Given the description of an element on the screen output the (x, y) to click on. 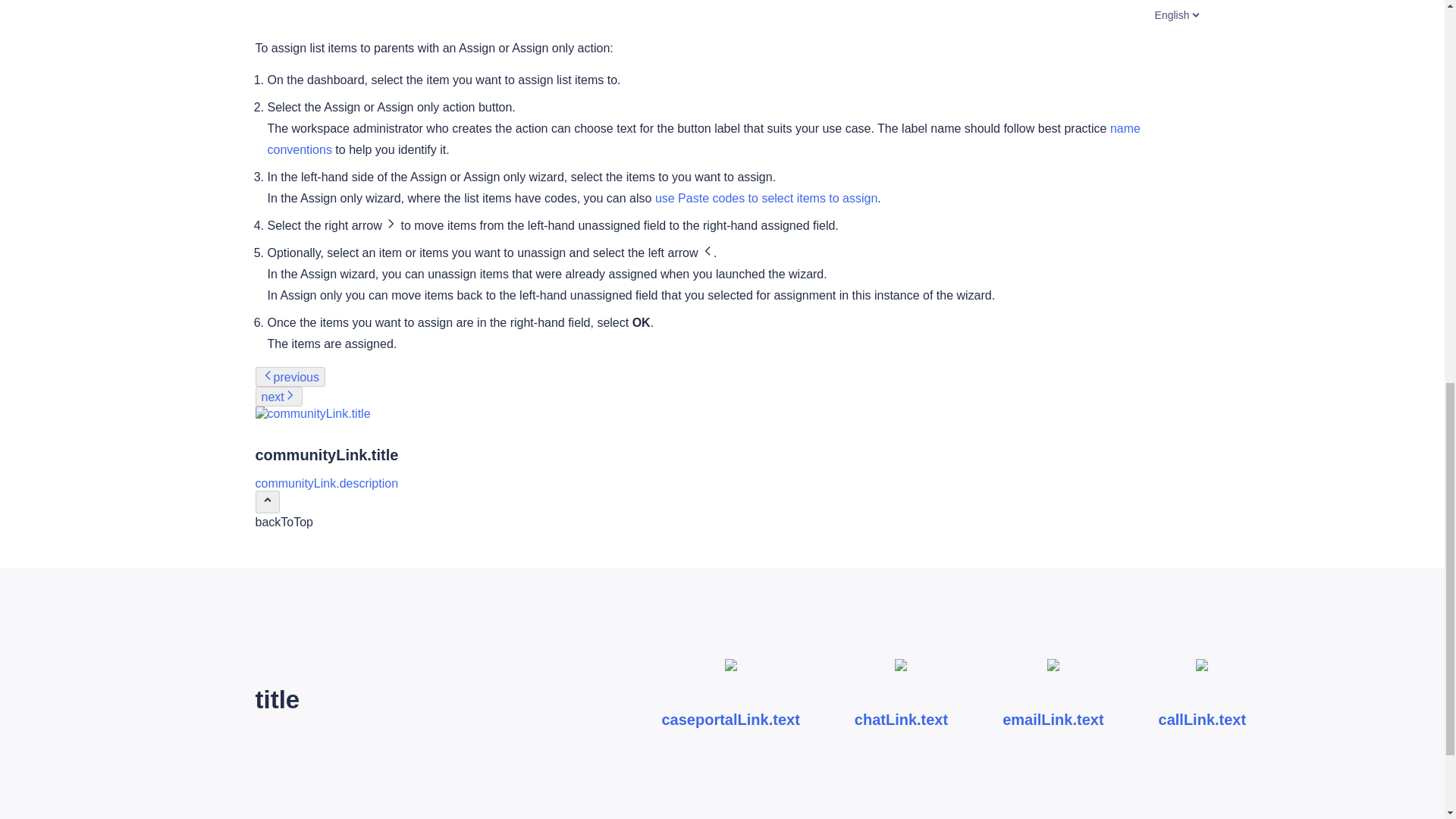
previous (289, 376)
next (277, 396)
name conventions (703, 139)
next (277, 396)
use Paste codes to select items to assign (766, 197)
emailLink.text (1052, 699)
callLink.text (1202, 699)
chatLink.text (900, 699)
previous (289, 377)
